Given the description of an element on the screen output the (x, y) to click on. 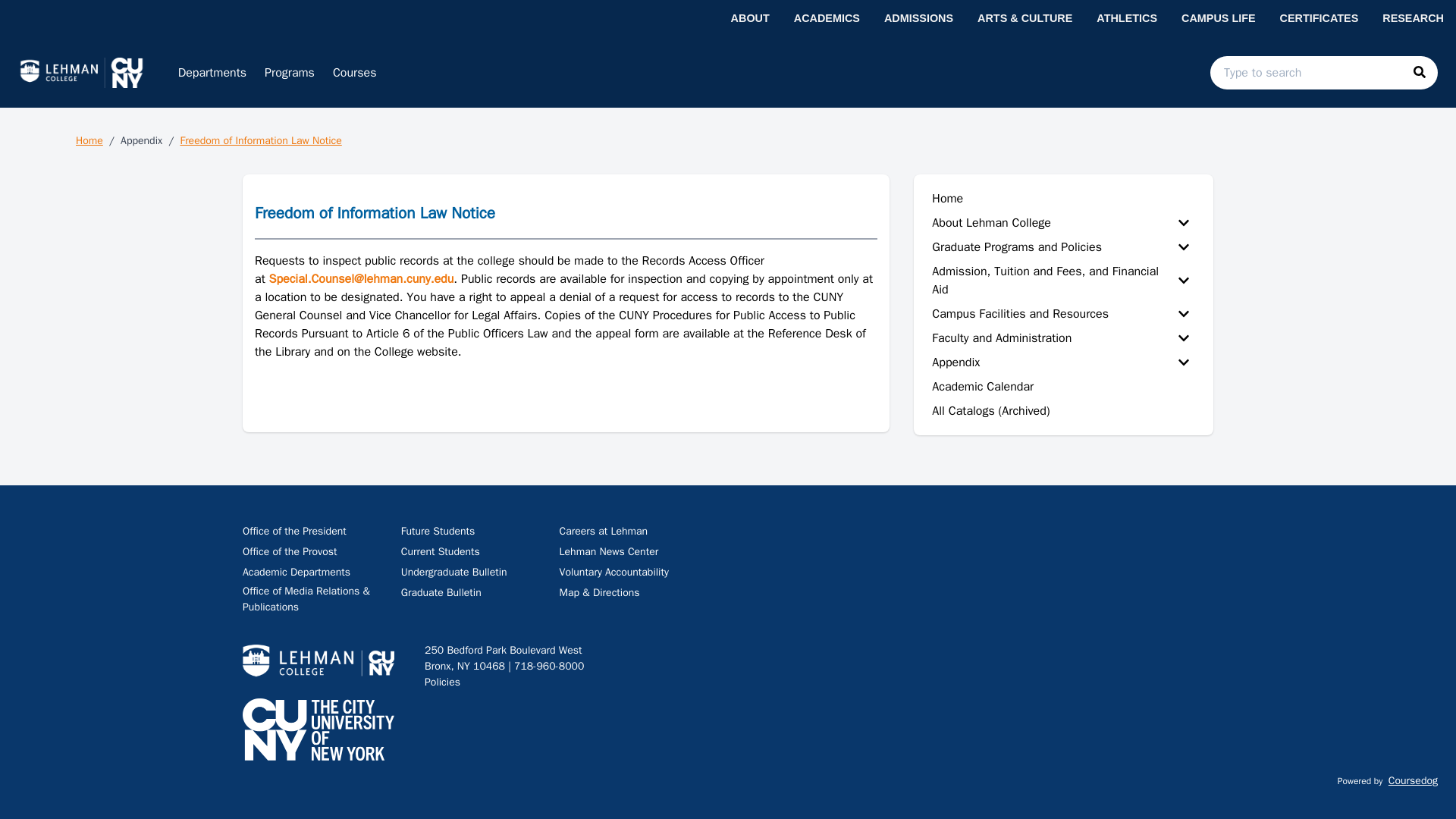
ATHLETICS (1126, 18)
Courses (354, 72)
ADMISSIONS (918, 18)
CAMPUS LIFE (1218, 18)
Departments (212, 72)
Programs (289, 72)
Courses (354, 72)
Programs (289, 72)
ACADEMICS (826, 18)
CERTIFICATES (1319, 18)
